Given the description of an element on the screen output the (x, y) to click on. 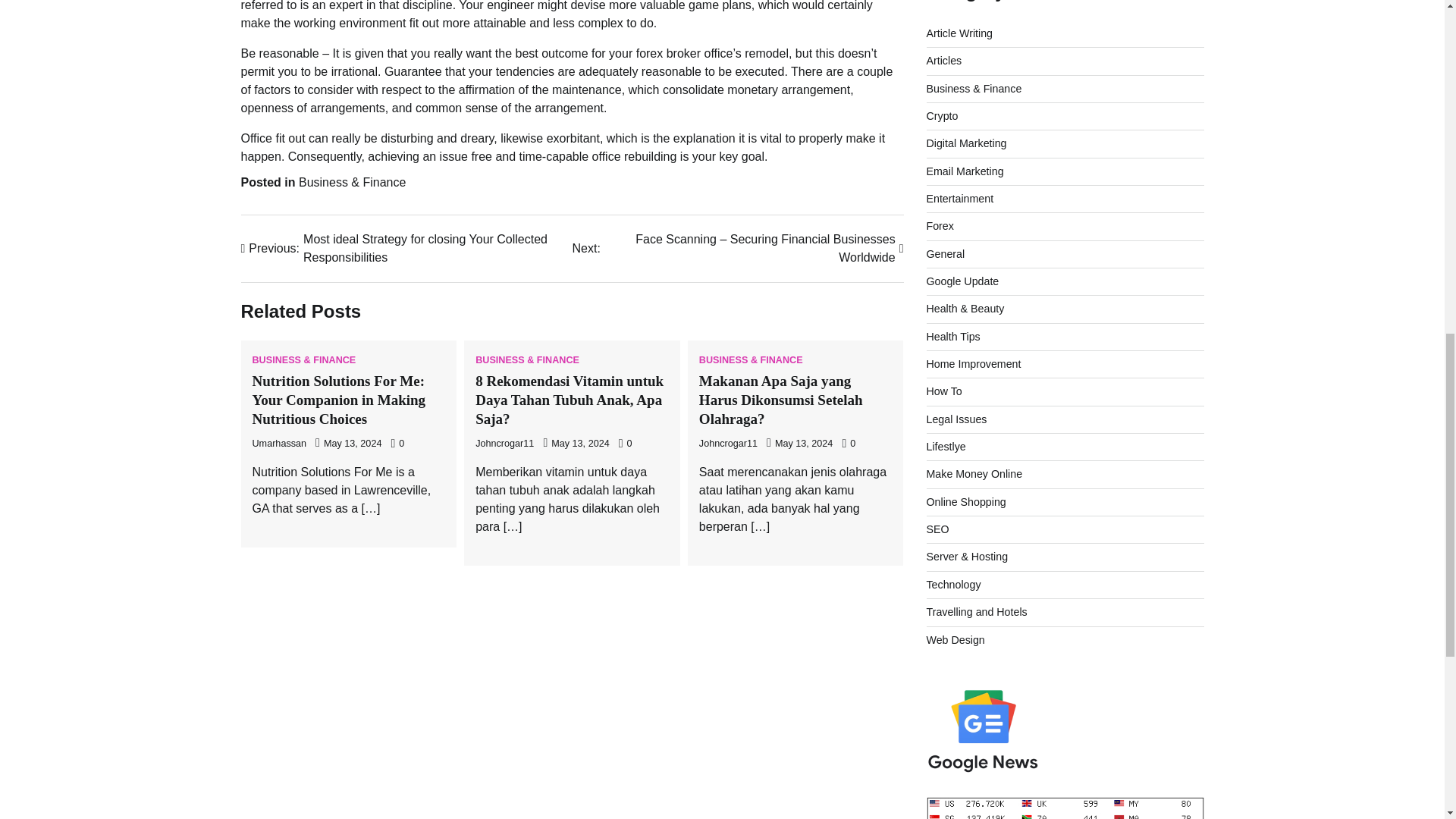
Umarhassan (278, 443)
